Given the description of an element on the screen output the (x, y) to click on. 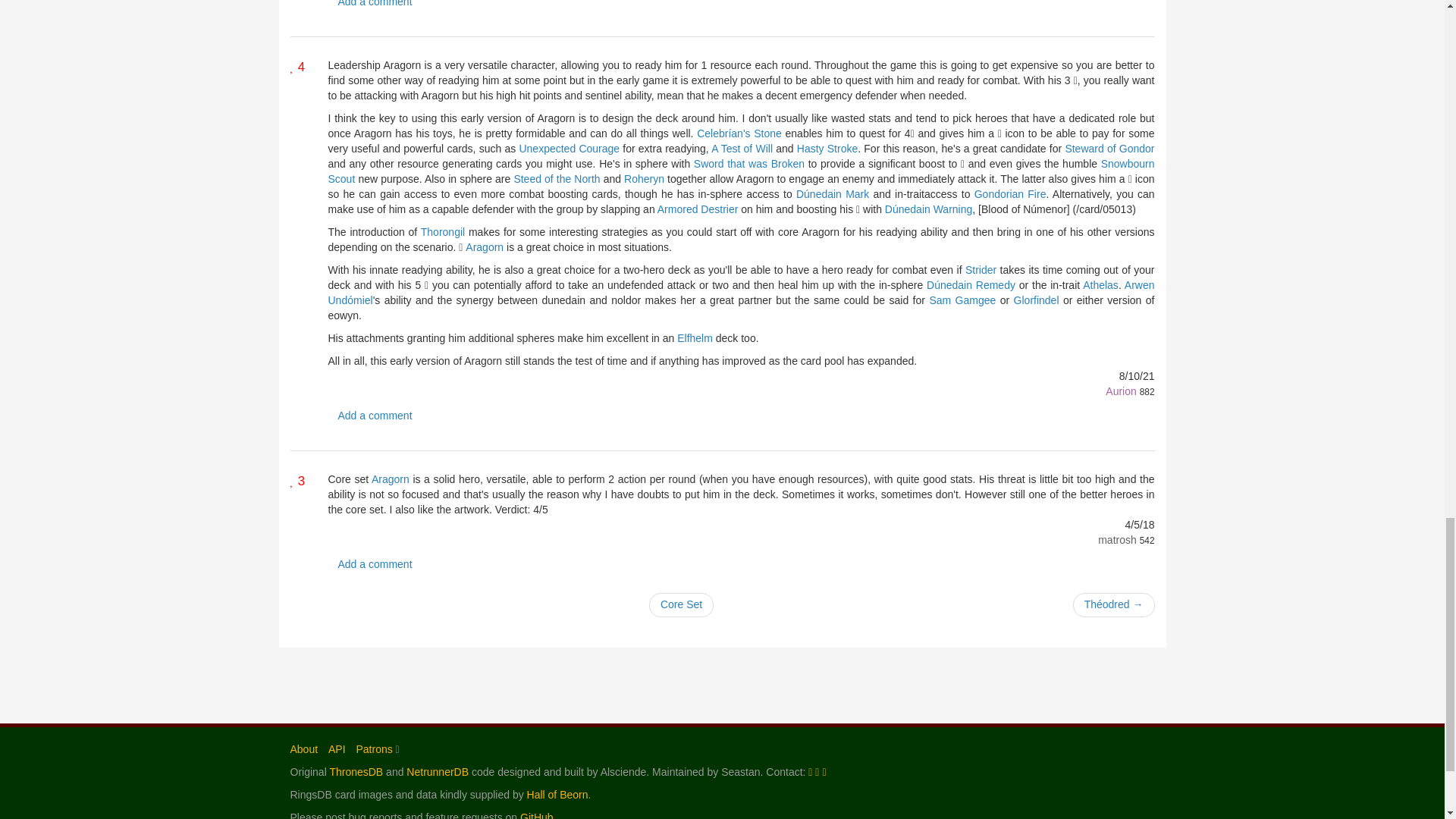
Like that review (296, 481)
August 10th, 2021 (1136, 376)
User Reputation (1147, 391)
Like that review (296, 66)
